Given the description of an element on the screen output the (x, y) to click on. 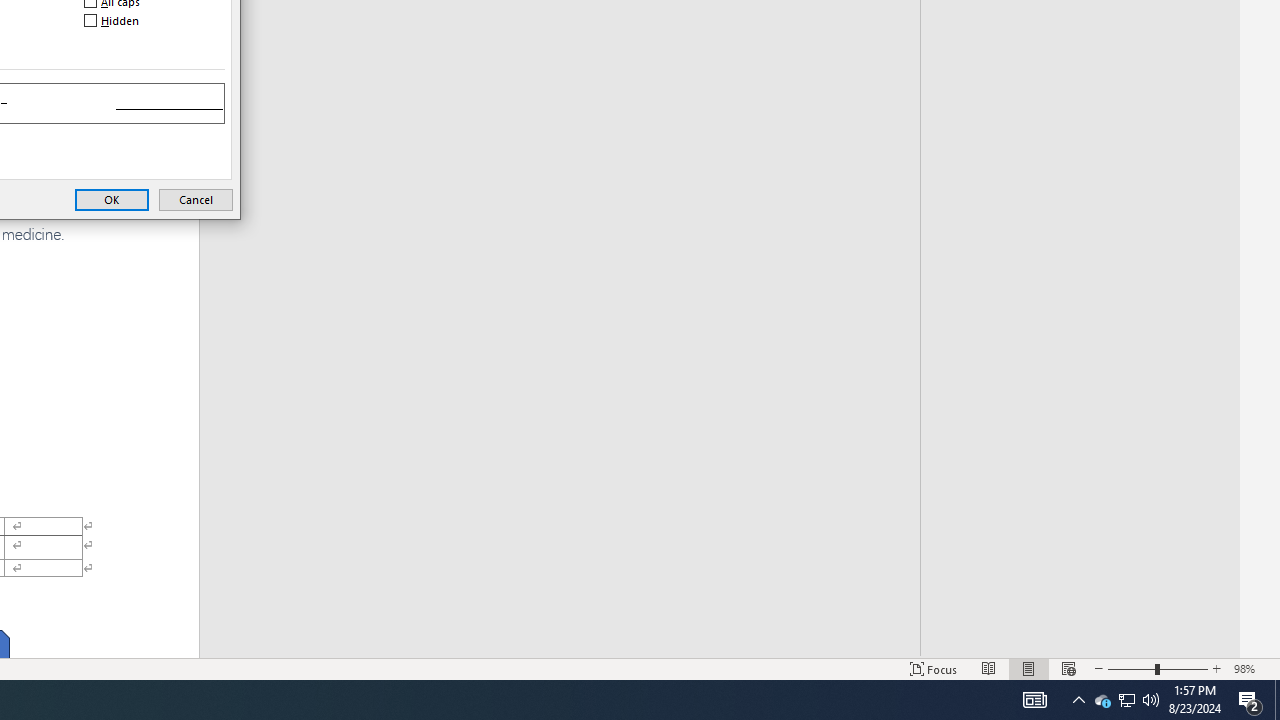
Print Layout (1028, 668)
Zoom (1158, 668)
Action Center, 2 new notifications (1250, 699)
Web Layout (1069, 668)
